Given the description of an element on the screen output the (x, y) to click on. 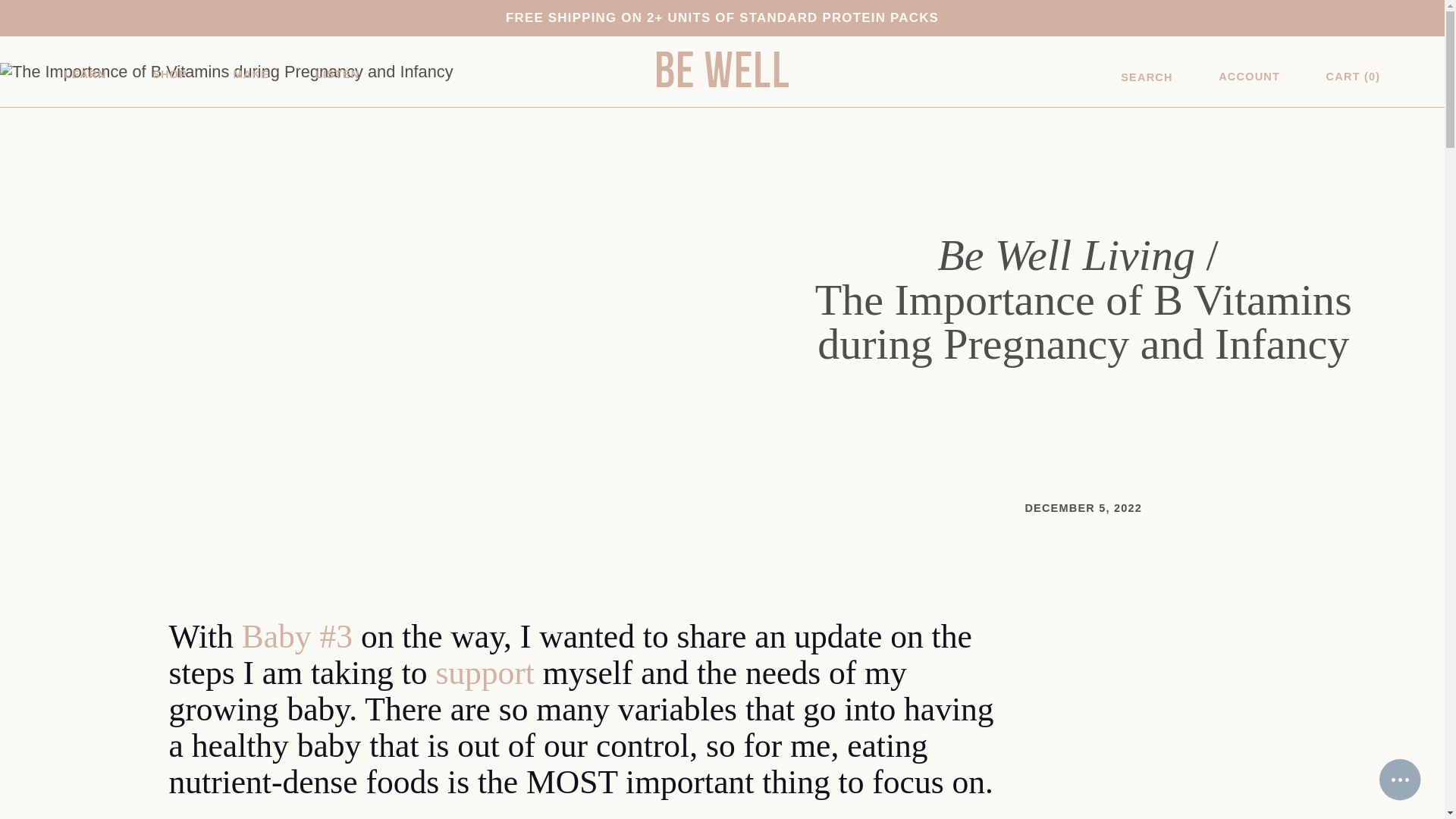
Skip to content (54, 20)
ACCOUNT (1248, 76)
support (484, 672)
